Given the description of an element on the screen output the (x, y) to click on. 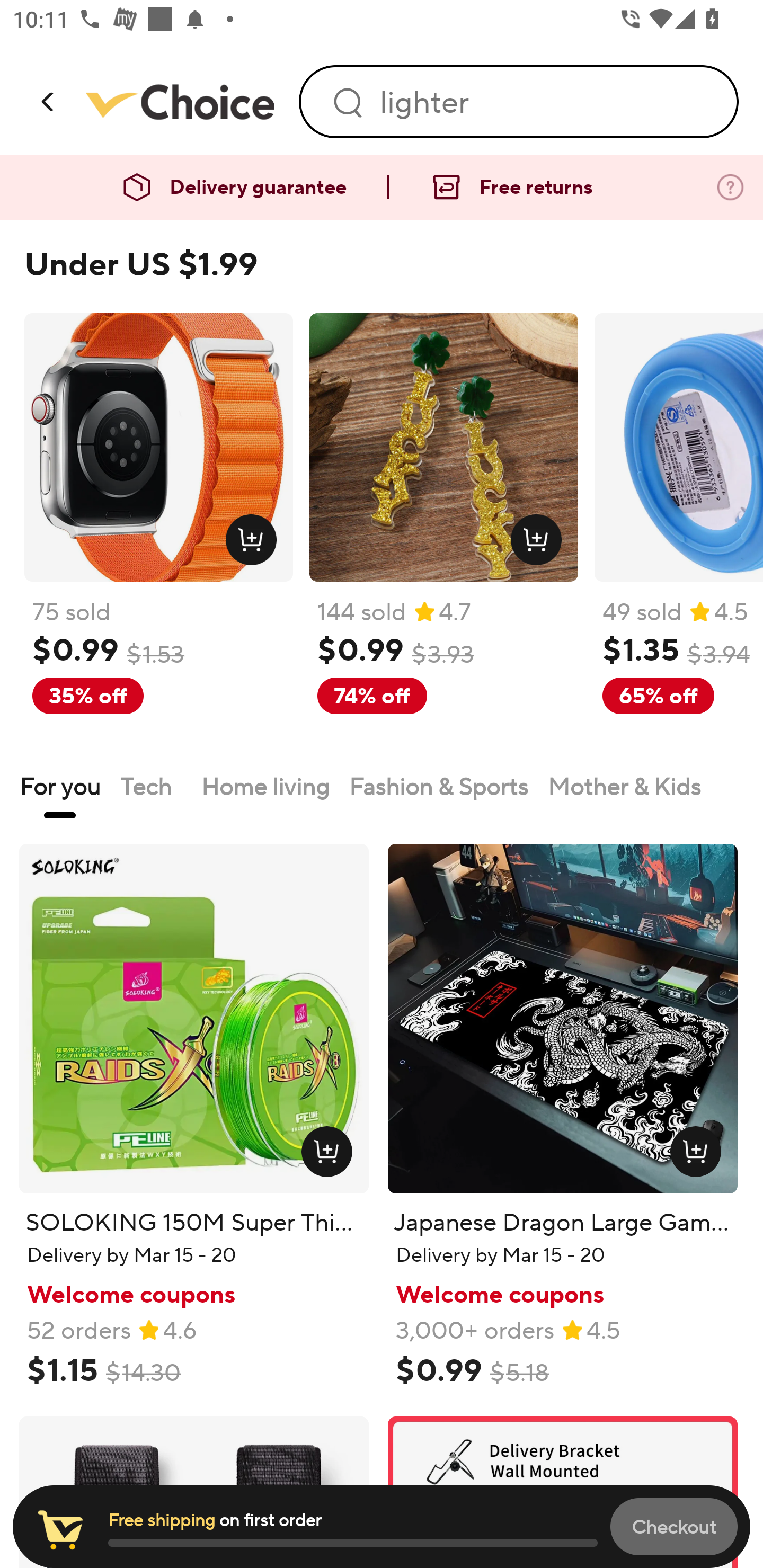
lighter (546, 101)
 (48, 100)
Delivery guarantee Free returns (381, 187)
75 sold $_0.99 $_1.53 35% off (158, 533)
144 sold 4.7 $_0.99 $_3.93 74% off (443, 533)
49 sold 4.5 $_1.35 $_3.94 65% off (678, 533)
For you (59, 786)
Tech   (150, 786)
Home living (265, 786)
Fashion & Sports (437, 786)
Mother & Kids  (626, 786)
Free shipping on first order 0.0 Checkout (381, 1526)
Checkout (673, 1526)
